Given the description of an element on the screen output the (x, y) to click on. 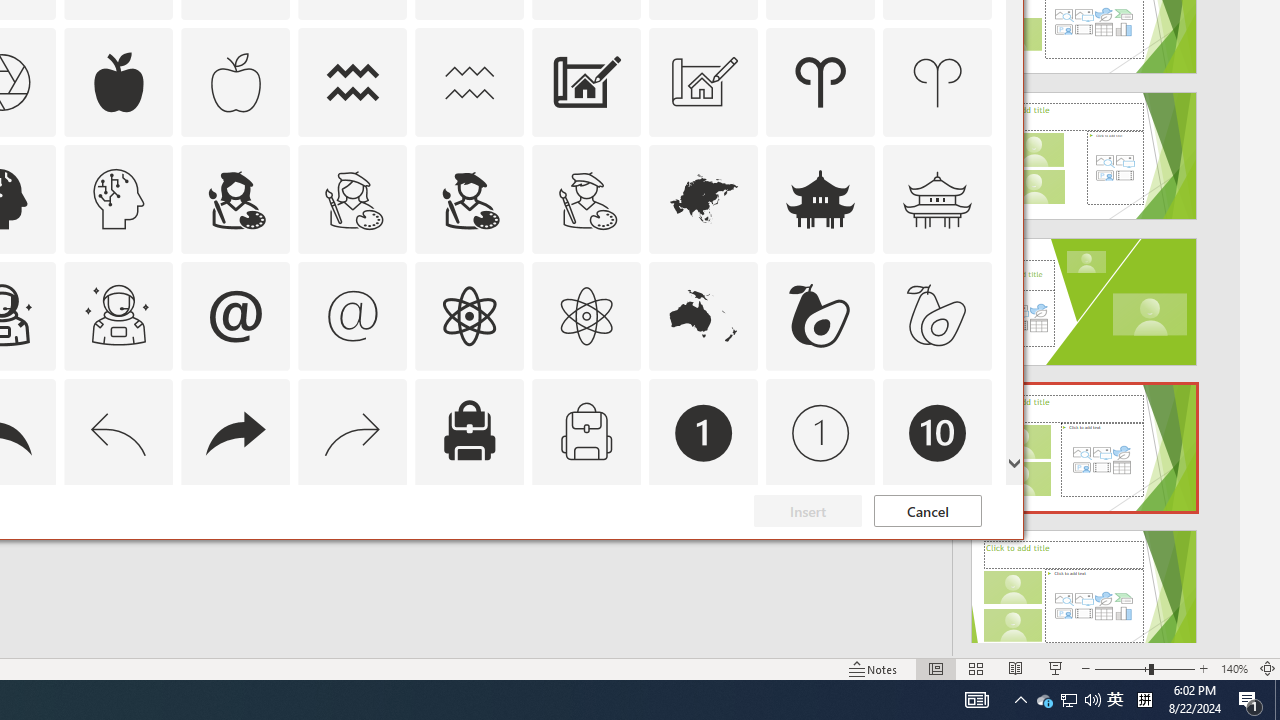
AutomationID: Icons_Badge8_M (703, 550)
AutomationID: Icons (937, 550)
AutomationID: Icons_Back_RTL (235, 432)
AutomationID: Icons_Back_RTL_M (353, 432)
AutomationID: Icons_Atom_M (586, 316)
AutomationID: Icons_Architecture (586, 82)
AutomationID: Icons_Aries_M (938, 82)
